Given the description of an element on the screen output the (x, y) to click on. 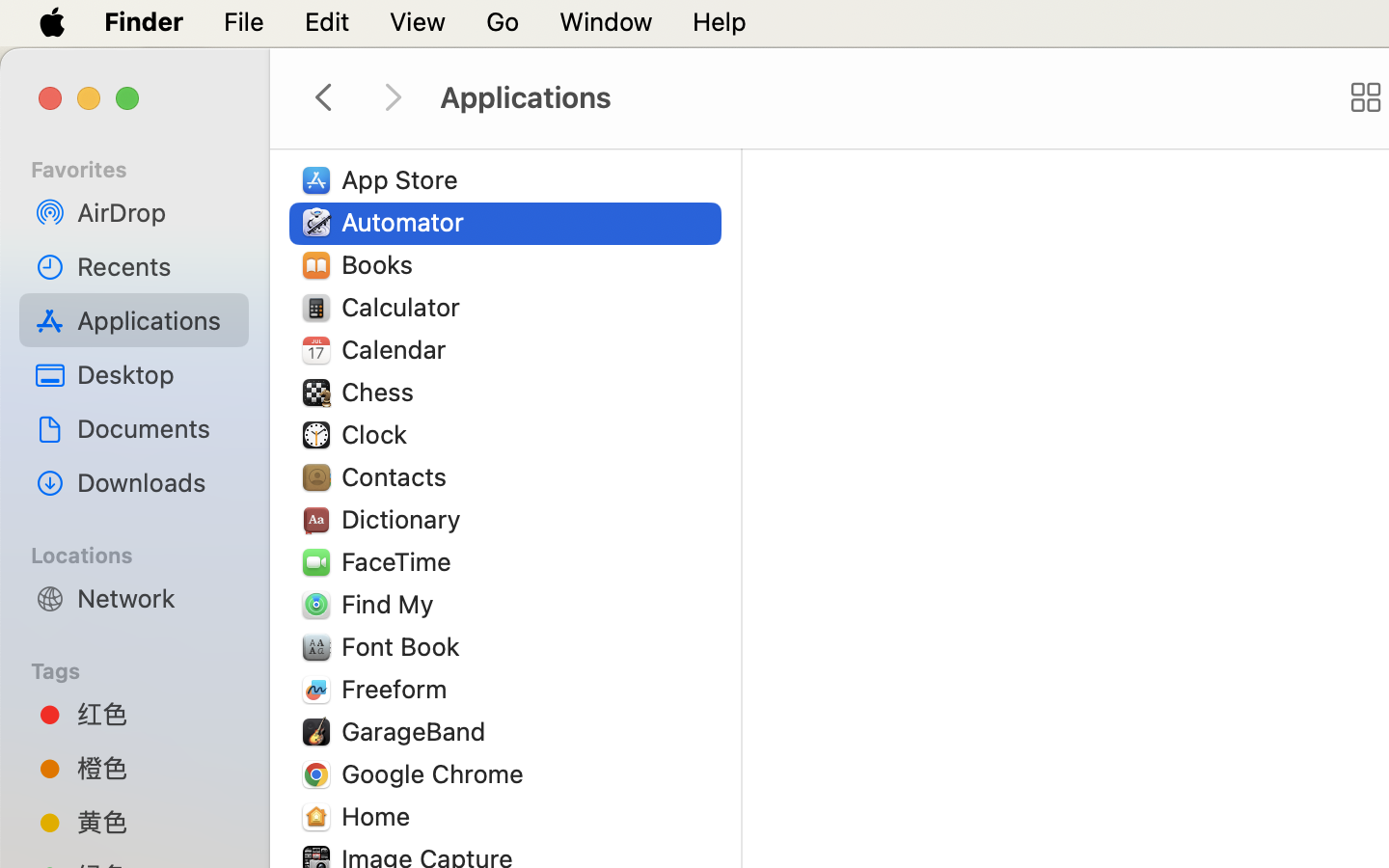
Applications Element type: AXStaticText (875, 98)
Clock Element type: AXTextField (378, 433)
GarageBand Element type: AXTextField (417, 730)
Network Element type: AXStaticText (155, 597)
Dictionary Element type: AXTextField (404, 518)
